Given the description of an element on the screen output the (x, y) to click on. 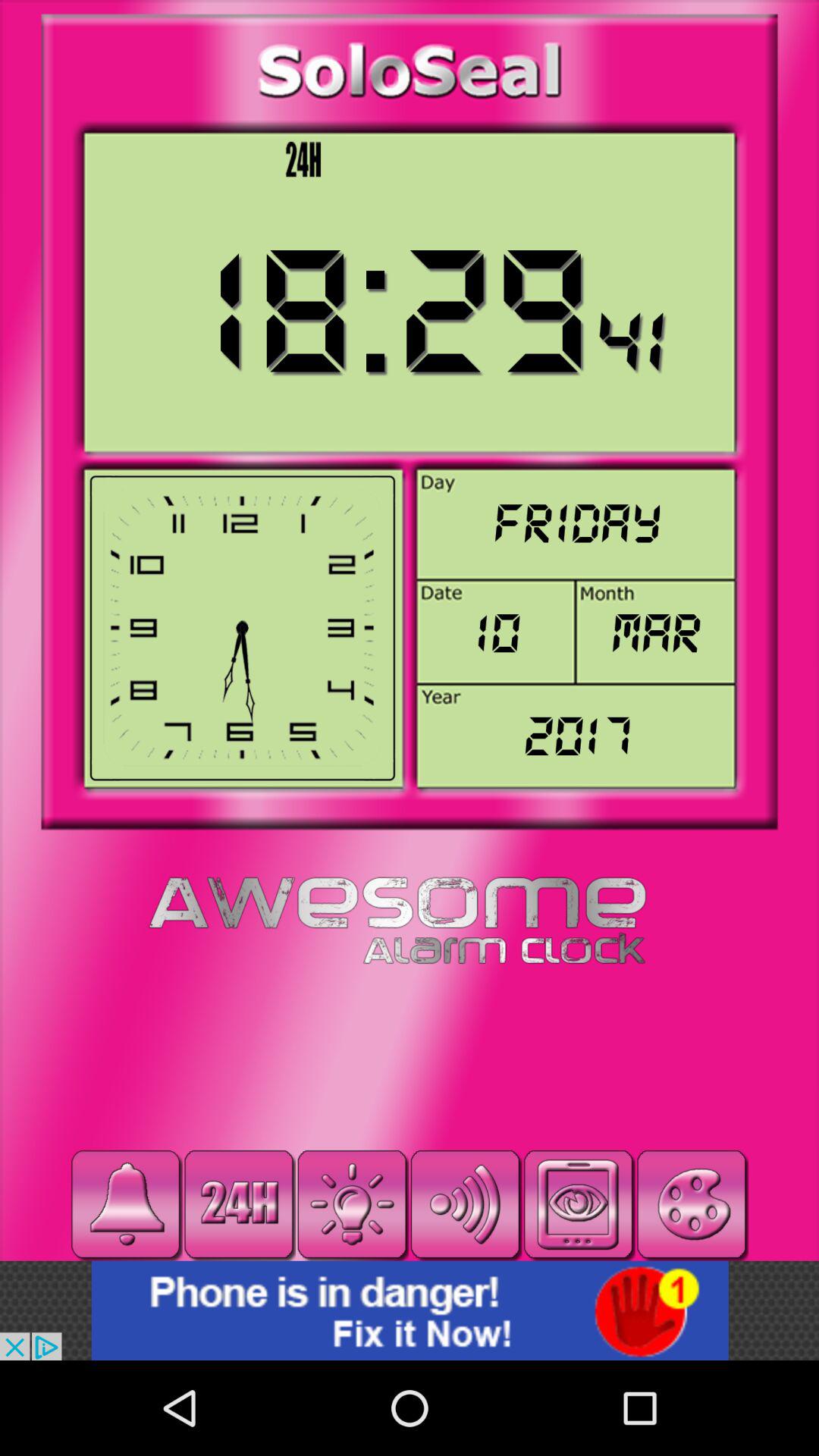
advertisement (409, 1310)
